Given the description of an element on the screen output the (x, y) to click on. 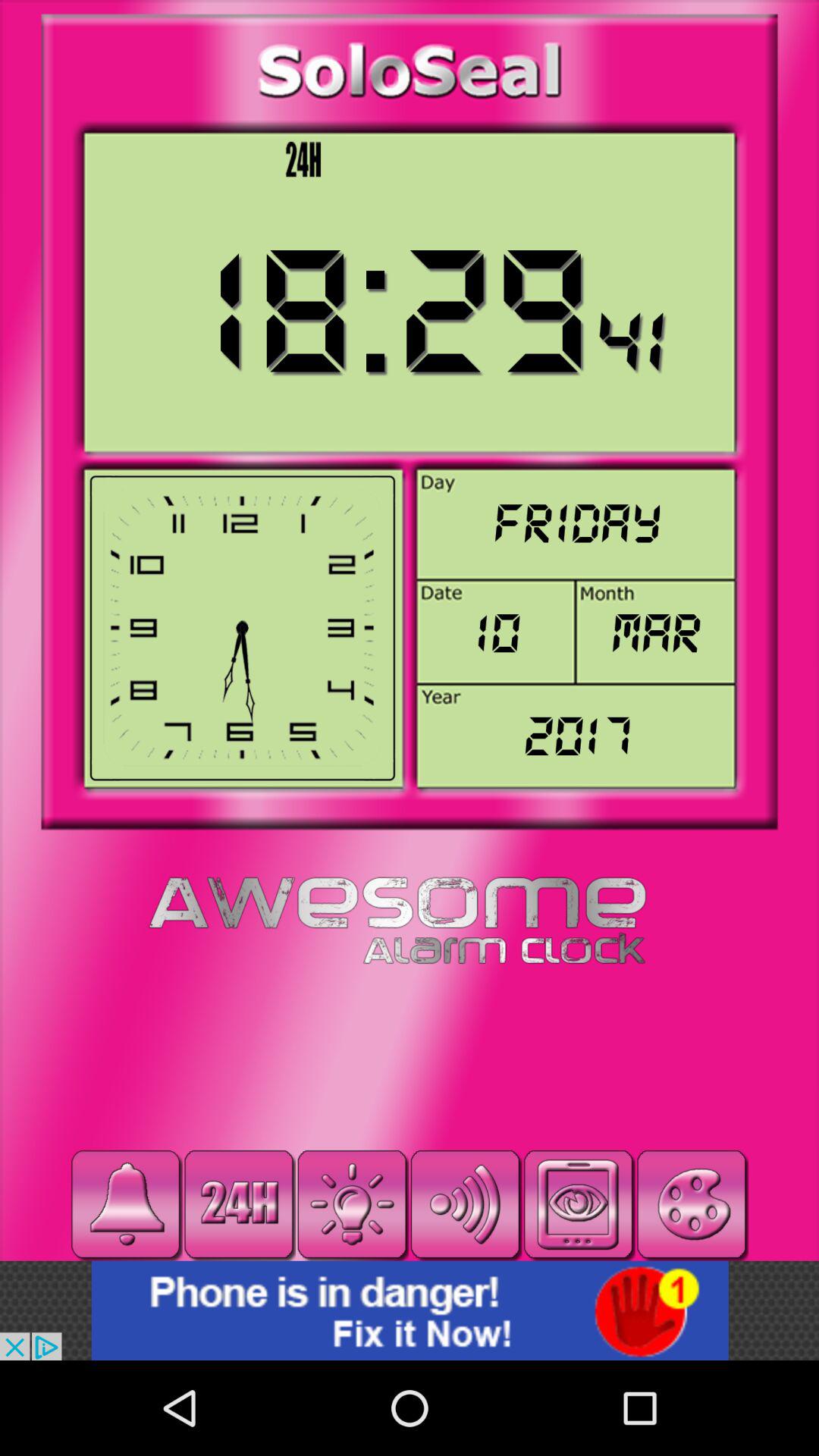
advertisement (409, 1310)
